Given the description of an element on the screen output the (x, y) to click on. 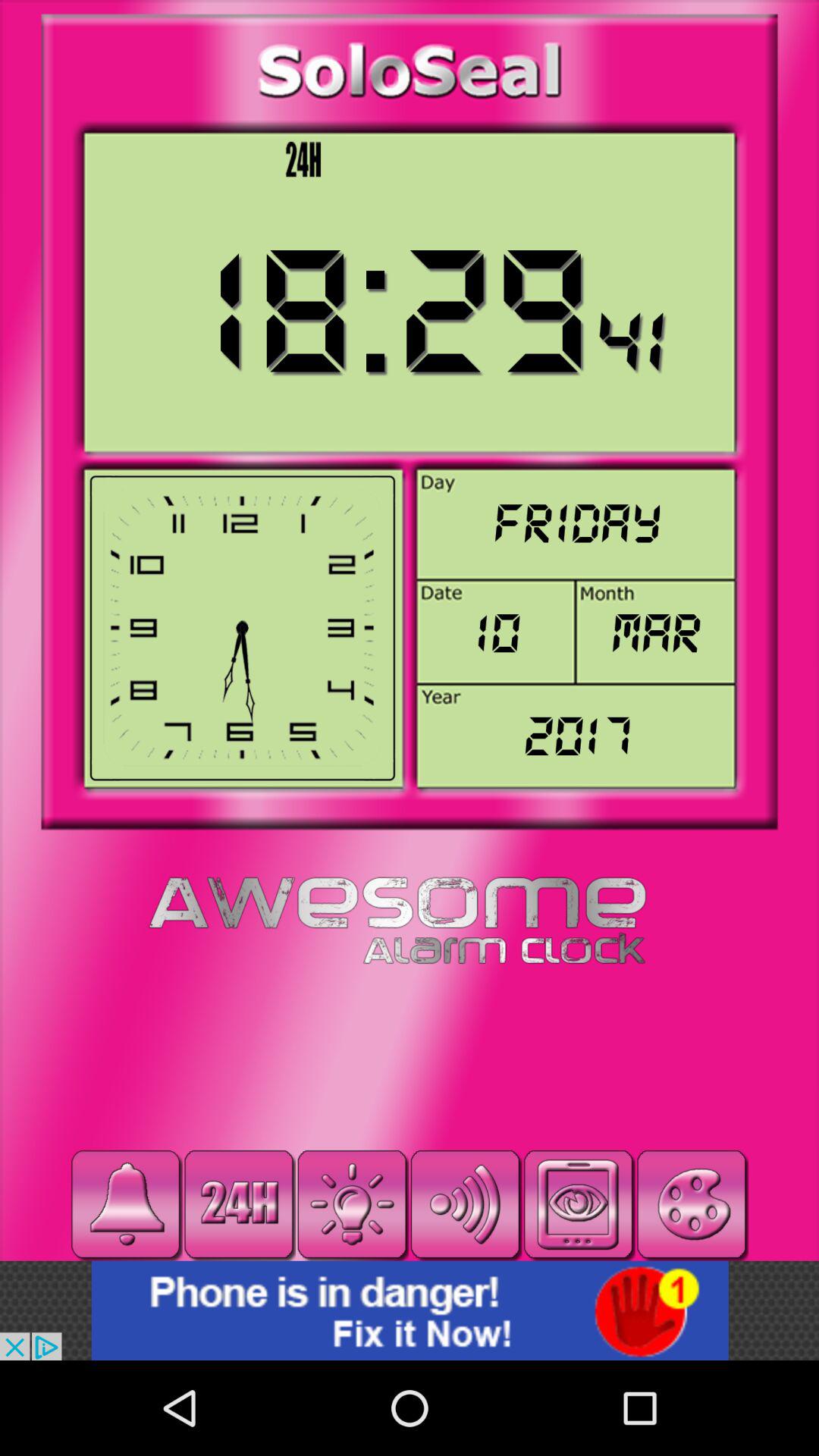
advertisement (409, 1310)
